Given the description of an element on the screen output the (x, y) to click on. 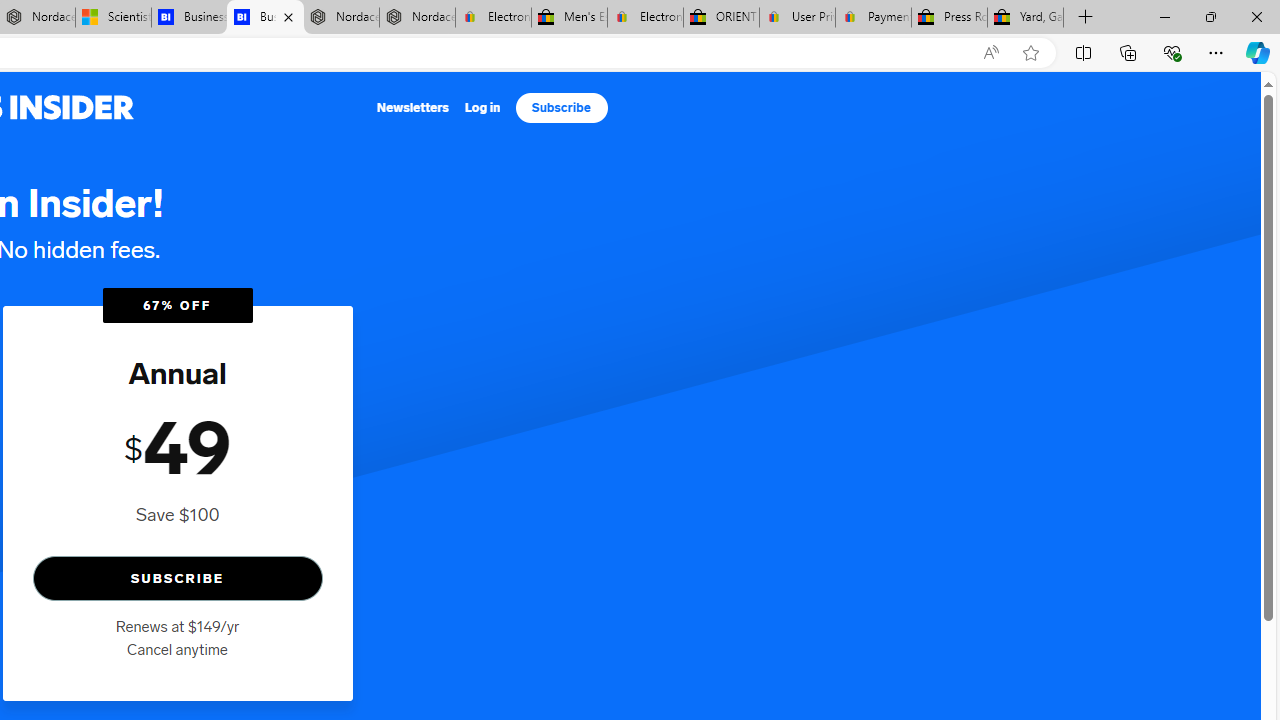
Log in (482, 107)
Payments Terms of Use | eBay.com (873, 17)
Newsletters (413, 107)
Nordace - Summer Adventures 2024 (340, 17)
Subscribe (561, 107)
Press Room - eBay Inc. (948, 17)
User Privacy Notice | eBay (797, 17)
